Given the description of an element on the screen output the (x, y) to click on. 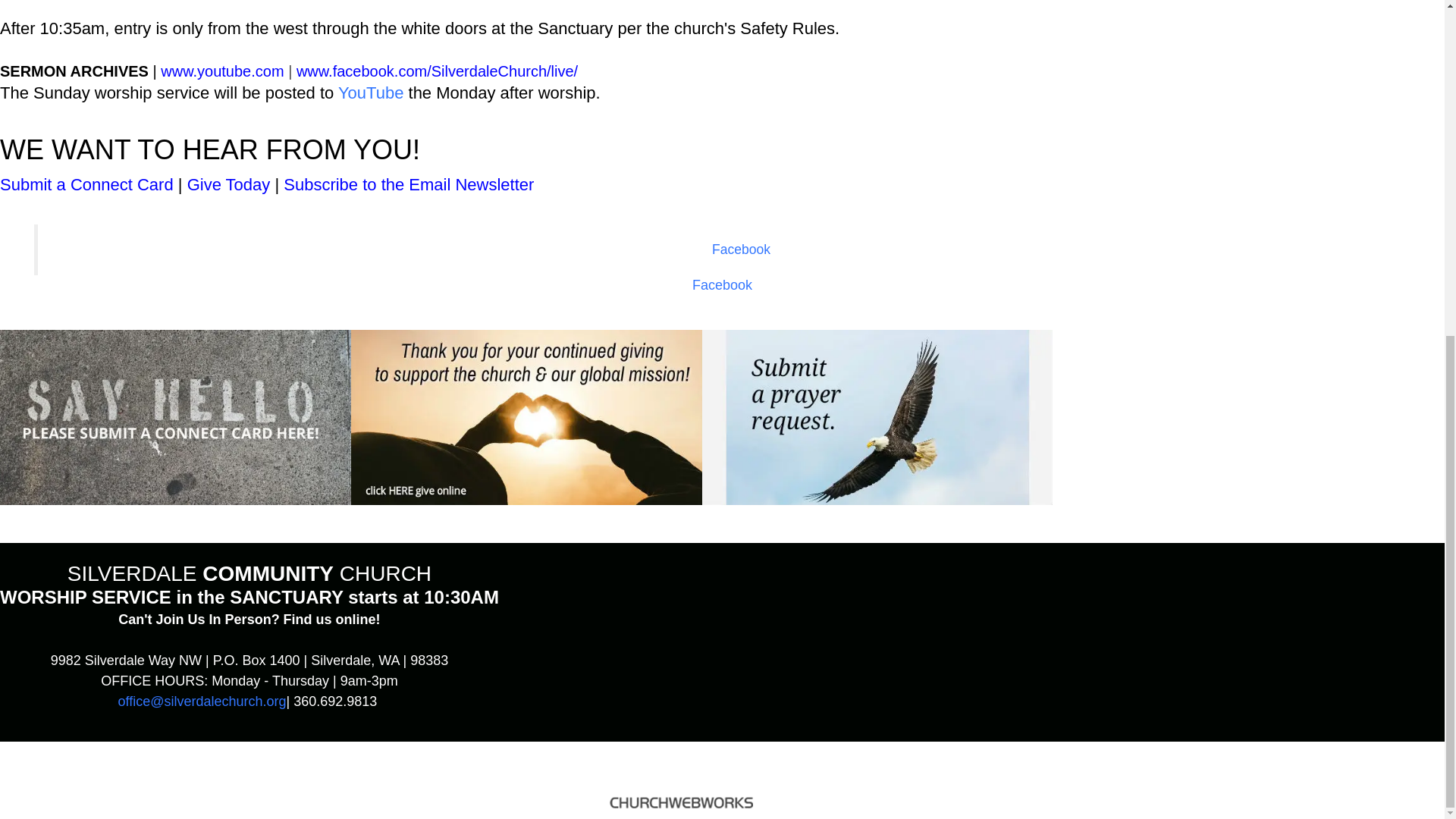
www.youtube.com (221, 71)
